Given the description of an element on the screen output the (x, y) to click on. 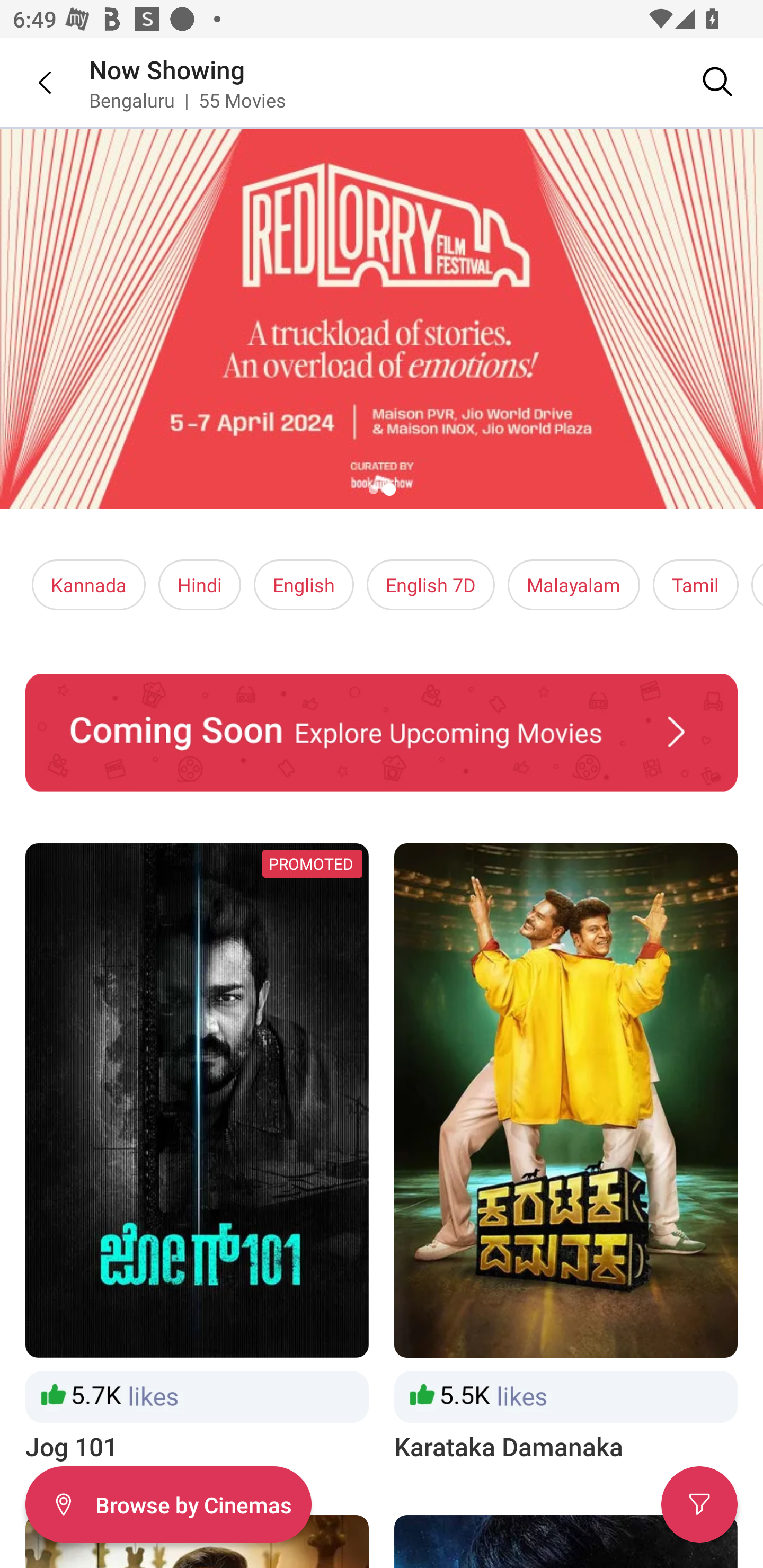
Back (31, 82)
Now Showing (166, 68)
Bengaluru  |  55 Movies (187, 99)
Kannada (88, 584)
Hindi (199, 584)
English (304, 584)
English 7D (431, 584)
Malayalam (573, 584)
Tamil (695, 584)
Jog 101 PROMOTED (196, 1153)
Karataka Damanaka (565, 1153)
Filter Browse by Cinemas (168, 1504)
Filter (699, 1504)
